Given the description of an element on the screen output the (x, y) to click on. 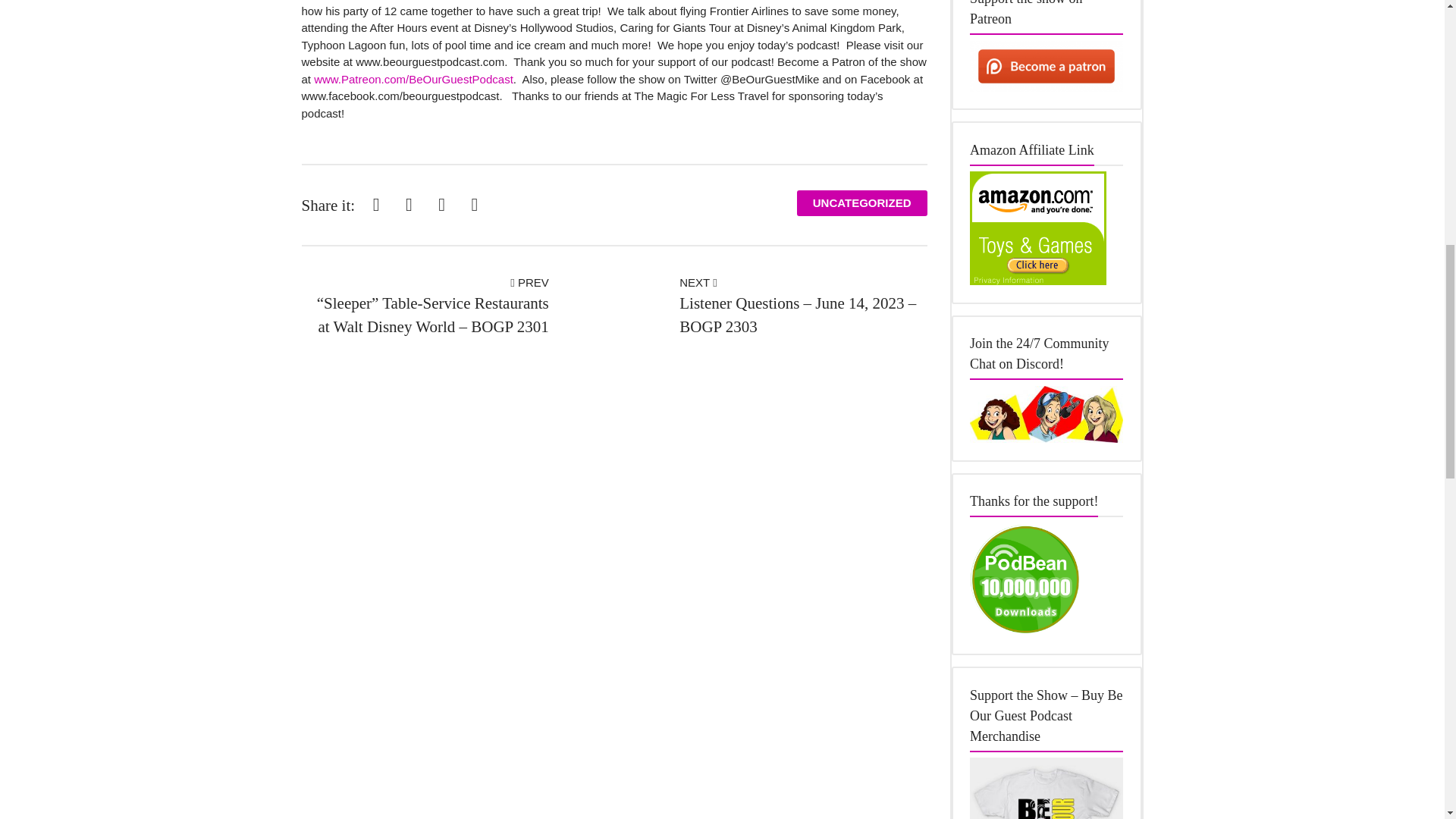
NEXT (697, 282)
UNCATEGORIZED (861, 203)
PREV (529, 282)
